Given the description of an element on the screen output the (x, y) to click on. 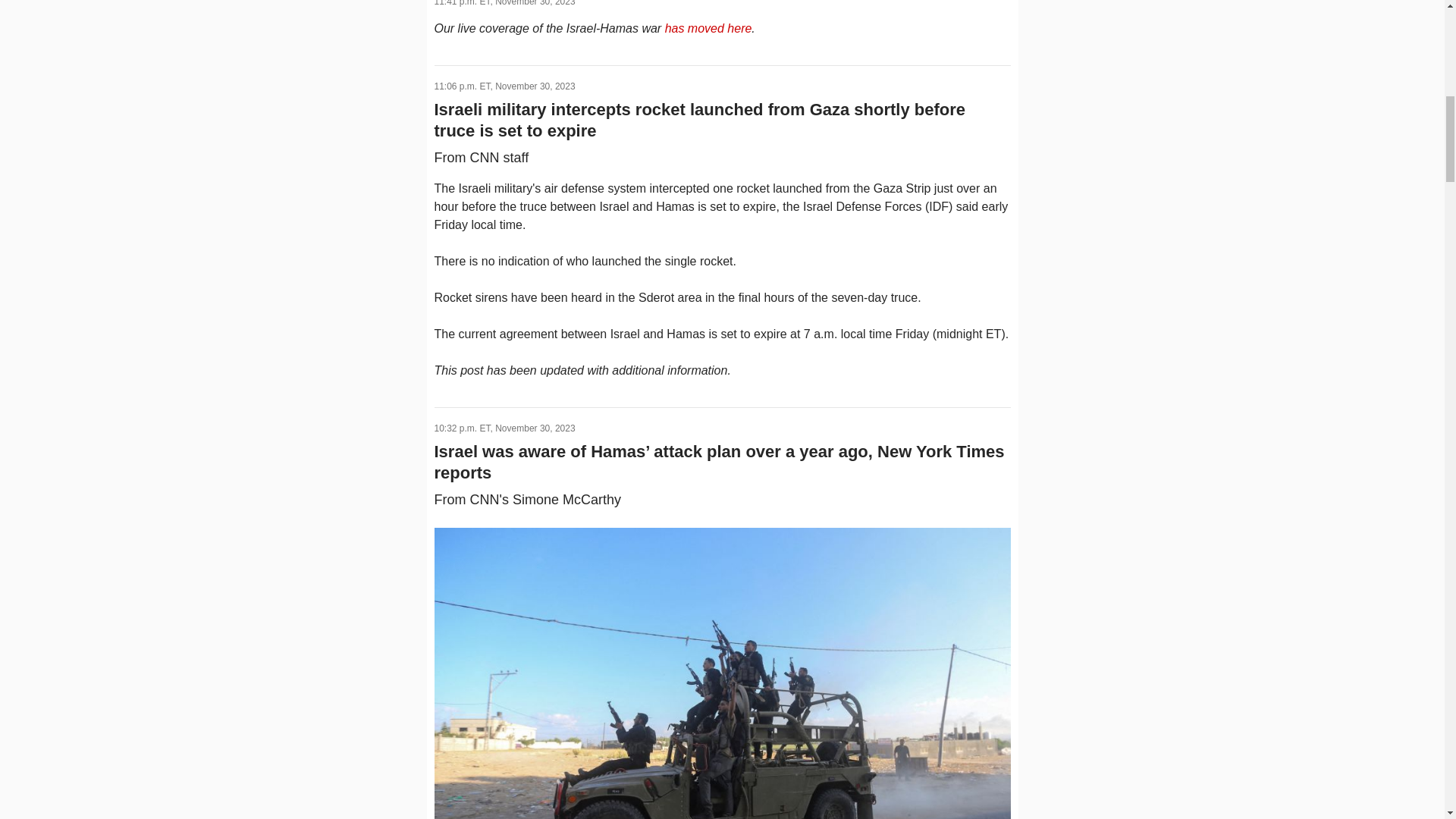
has moved here (708, 28)
